Given the description of an element on the screen output the (x, y) to click on. 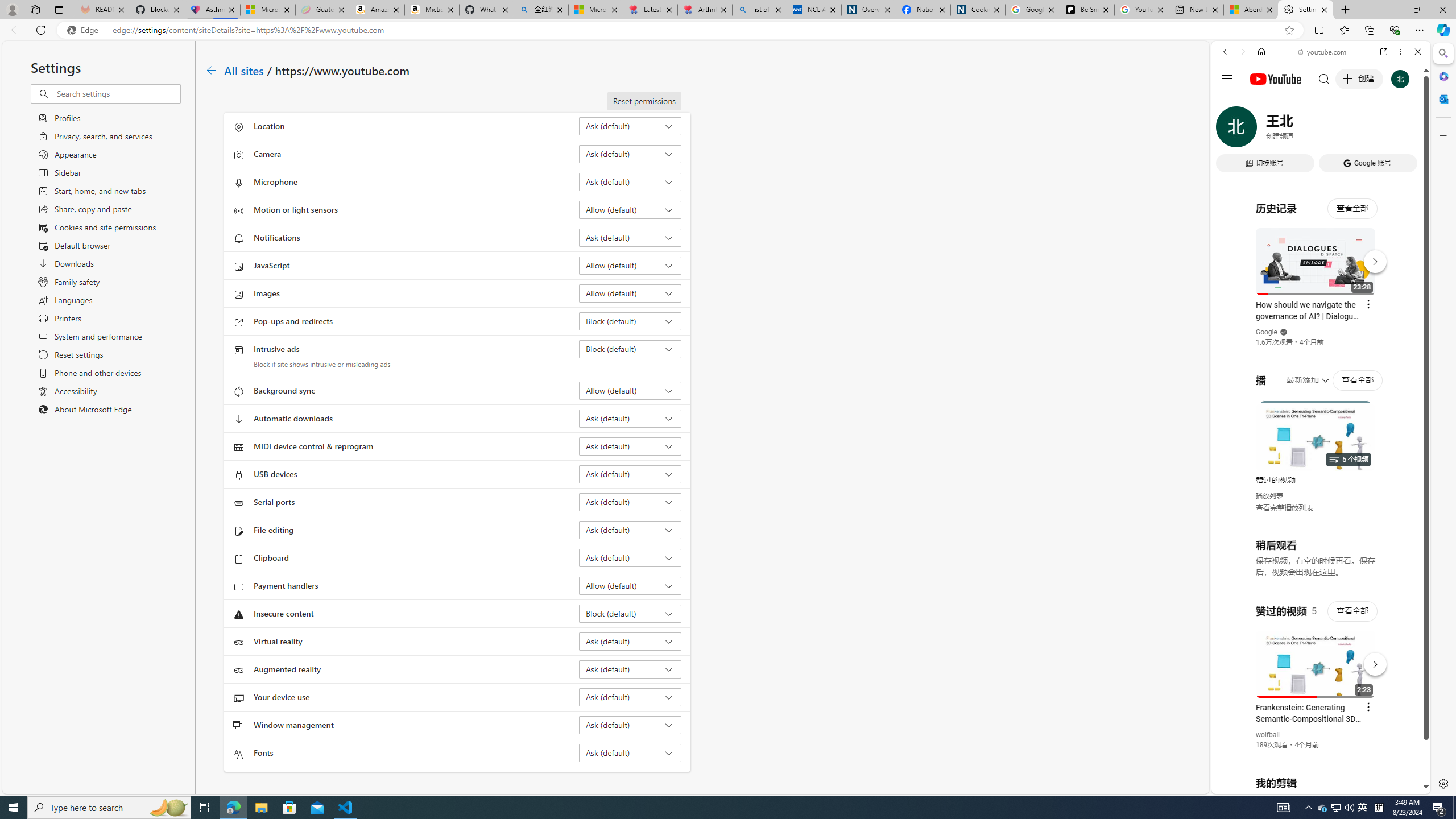
Music (1320, 309)
WEB   (1230, 130)
Aberdeen, Hong Kong SAR hourly forecast | Microsoft Weather (1250, 9)
Arthritis: Ask Health Professionals (704, 9)
Virtual reality Ask (default) (630, 641)
Forward (1242, 51)
Search Filter, Search Tools (1350, 129)
